Given the description of an element on the screen output the (x, y) to click on. 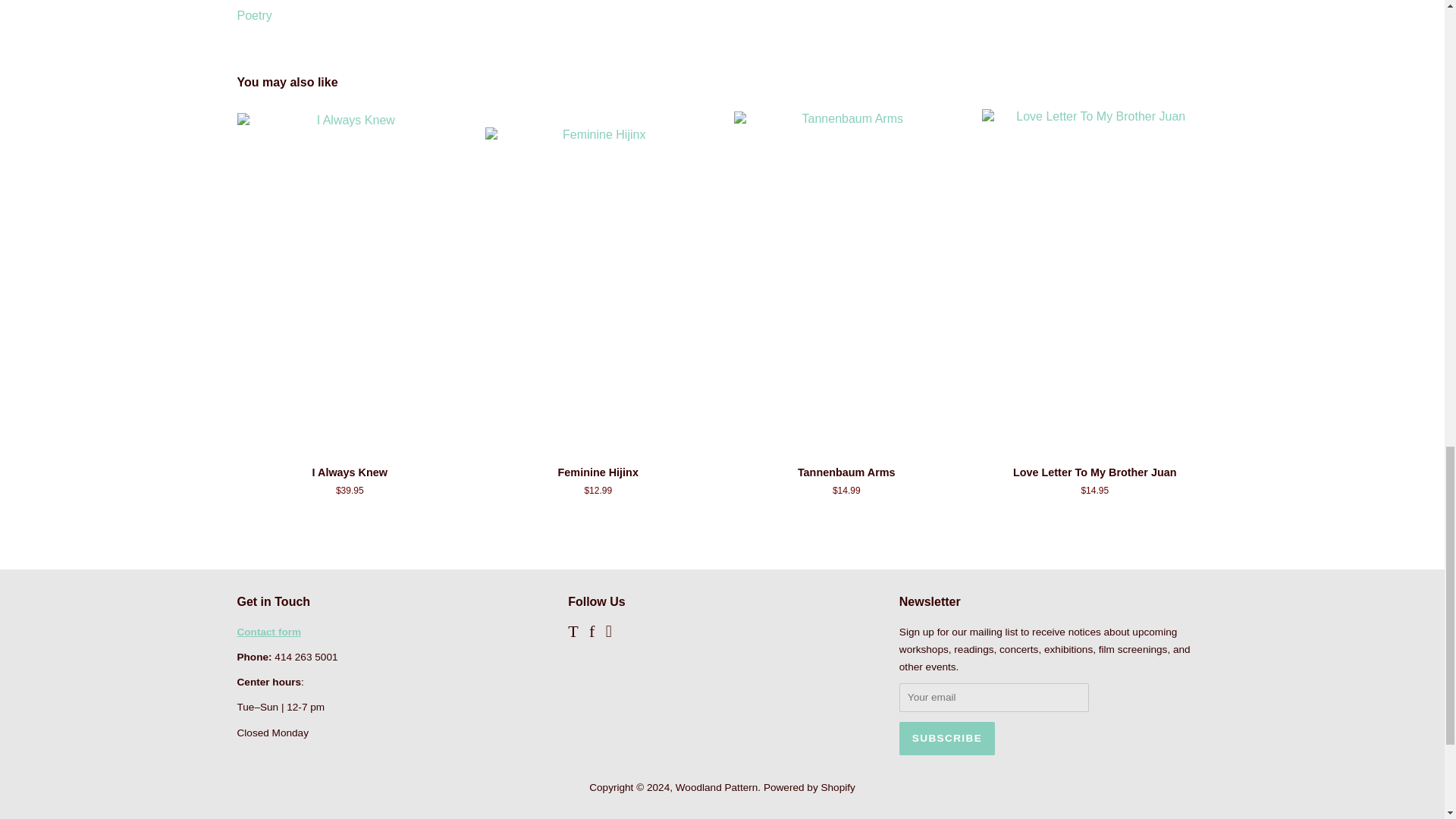
Powered by Shopify (809, 787)
Woodland Pattern on Twitter (572, 633)
Subscribe (946, 738)
Woodland Pattern (716, 787)
Facebook (591, 633)
Woodland Pattern on Instagram (608, 633)
Instagram (608, 633)
Poetry (252, 15)
Woodland Pattern on Facebook (591, 633)
Twitter (572, 633)
Subscribe (946, 738)
Contact form (268, 632)
